Given the description of an element on the screen output the (x, y) to click on. 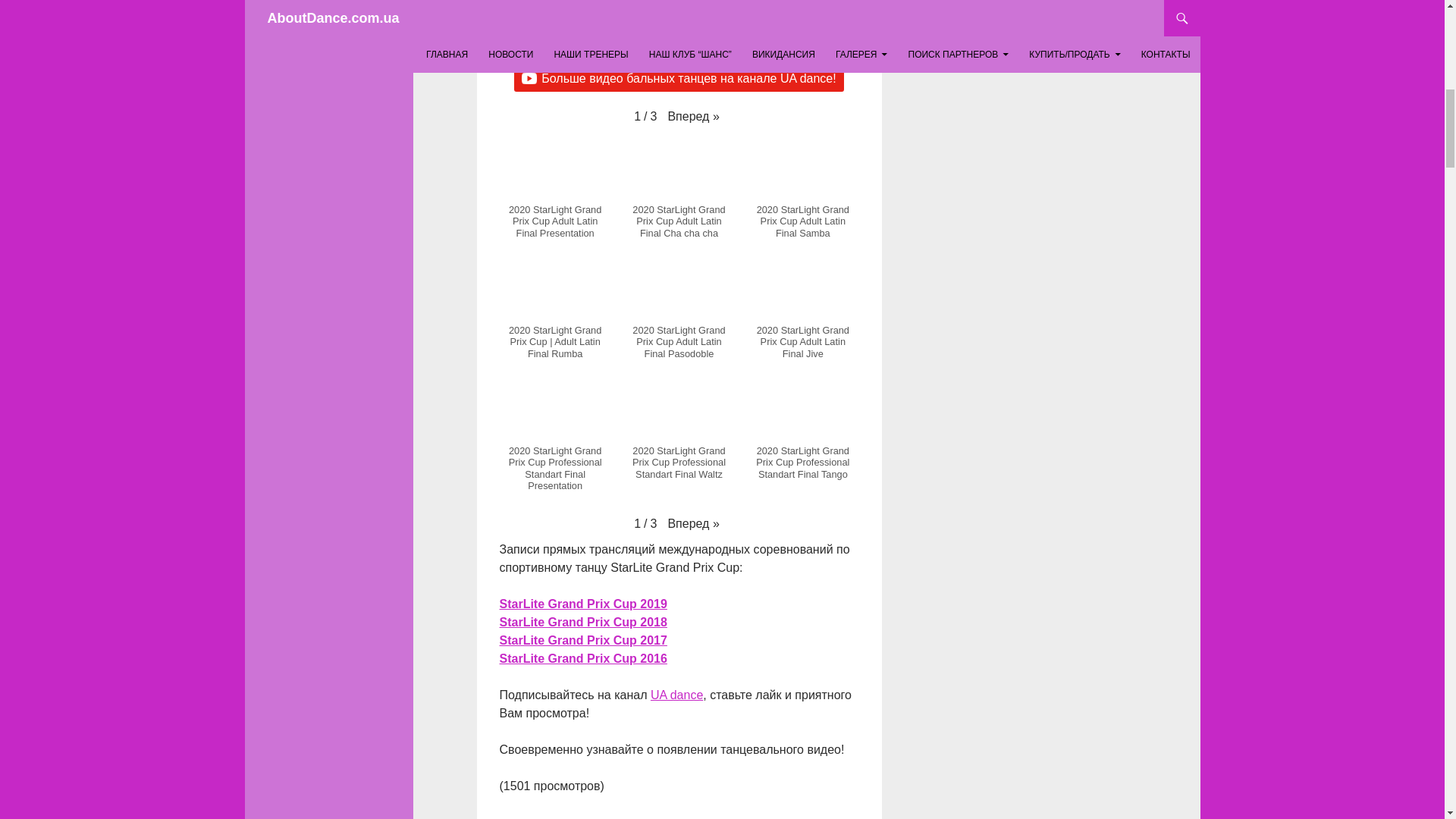
StarLite Grand Prix Cup 2019 (582, 603)
2020 StarLight Grand Prix Cup (679, 24)
UA dance (676, 694)
StarLite Grand Prix Cup 2017 (582, 640)
StarLite Grand Prix Cup 2016 (582, 658)
StarLite Grand Prix Cup 2018 (582, 621)
